Given the description of an element on the screen output the (x, y) to click on. 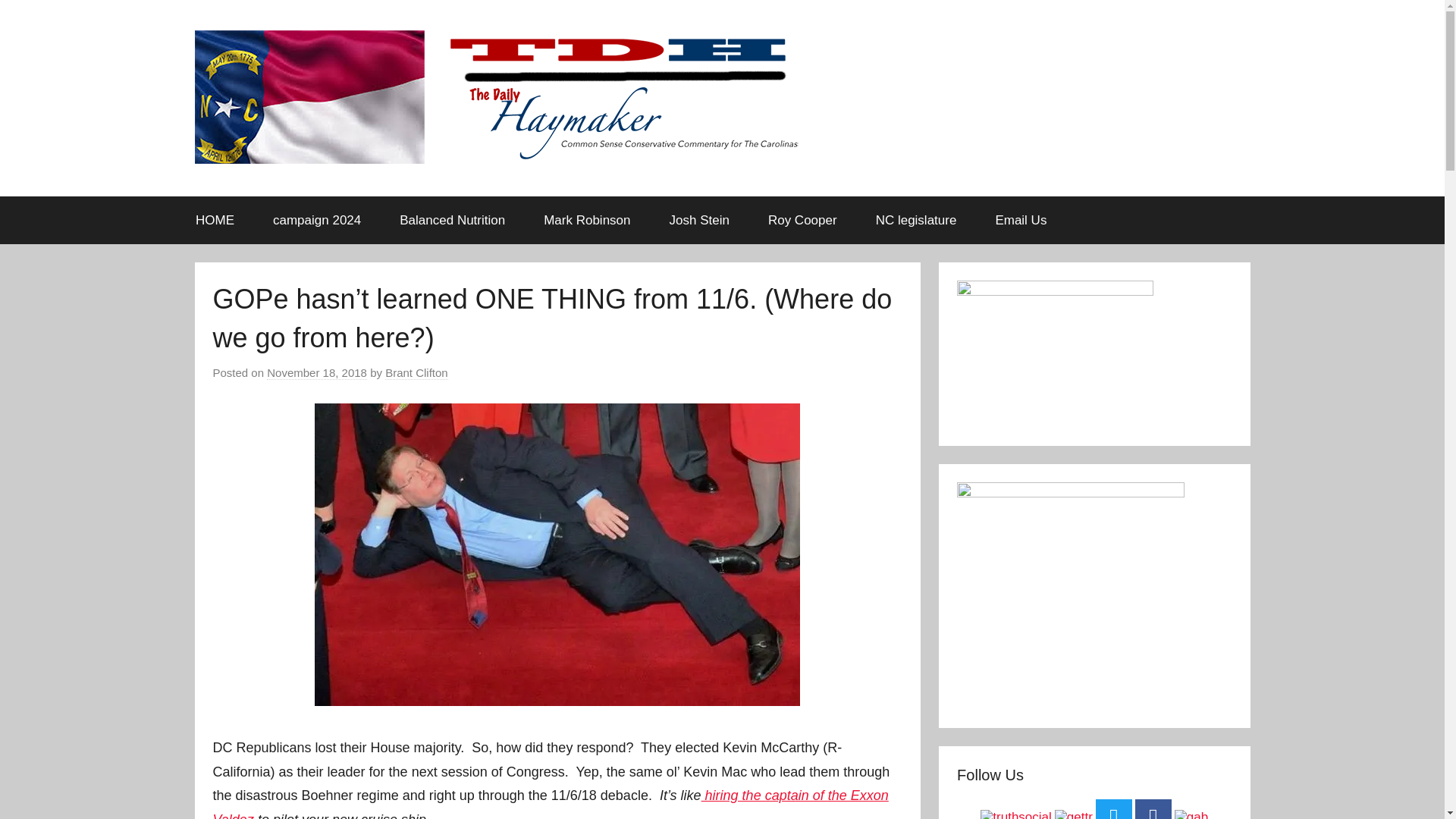
Brant Clifton (416, 373)
Mark Robinson (586, 219)
Roy Cooper (802, 219)
gab (1191, 814)
Balanced Nutrition (452, 219)
campaign 2024 (316, 219)
November 18, 2018 (316, 373)
hiring the captain of the Exxon Valdez (550, 803)
twitter (1114, 809)
gettr (1073, 814)
truthsocial (1015, 814)
NC legislature (915, 219)
gab (1191, 814)
truthsocial (1015, 814)
Josh Stein (698, 219)
